Given the description of an element on the screen output the (x, y) to click on. 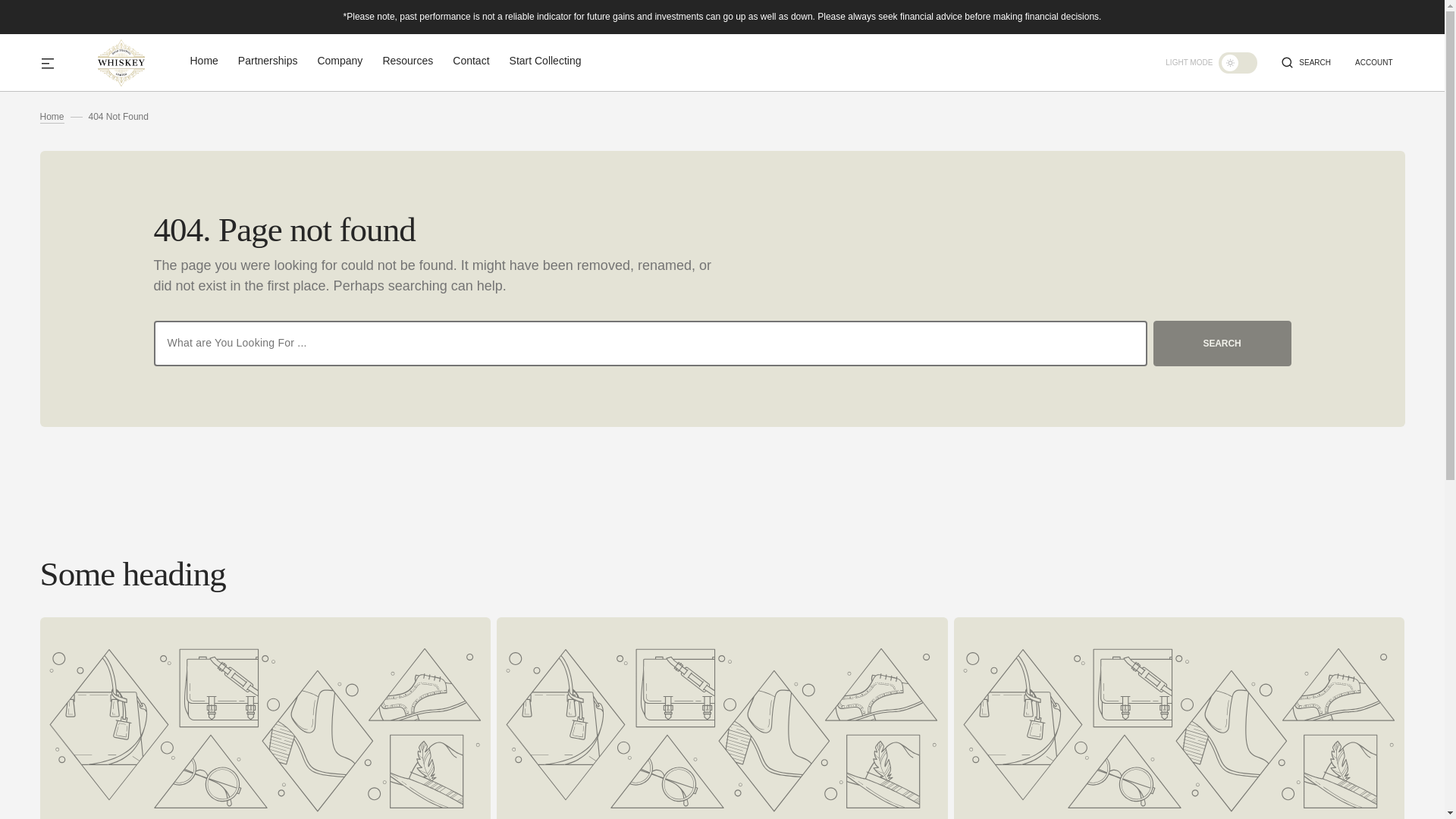
Home (51, 116)
Search (1314, 62)
dark (1237, 61)
Partnerships (267, 60)
Start Collecting (545, 60)
SKIP TO CONTENT (37, 22)
Resources (407, 60)
